Given the description of an element on the screen output the (x, y) to click on. 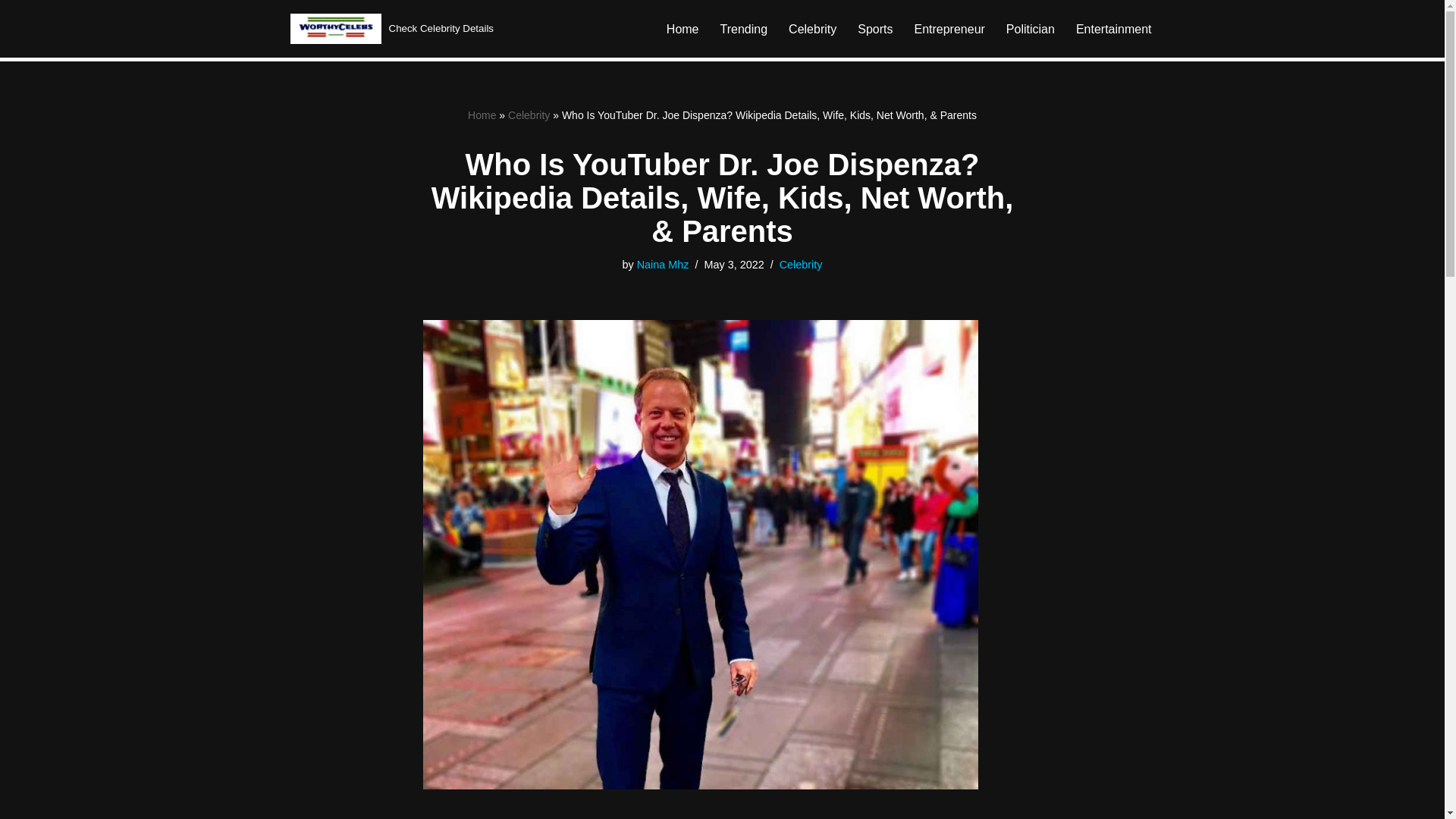
Entertainment (1113, 28)
Home (481, 114)
Skip to content (11, 31)
Naina Mhz (662, 264)
Navigation Menu (1418, 18)
Celebrity (800, 264)
Entrepreneur (949, 28)
Trending (744, 28)
Politician (1030, 28)
Home (682, 28)
